Given the description of an element on the screen output the (x, y) to click on. 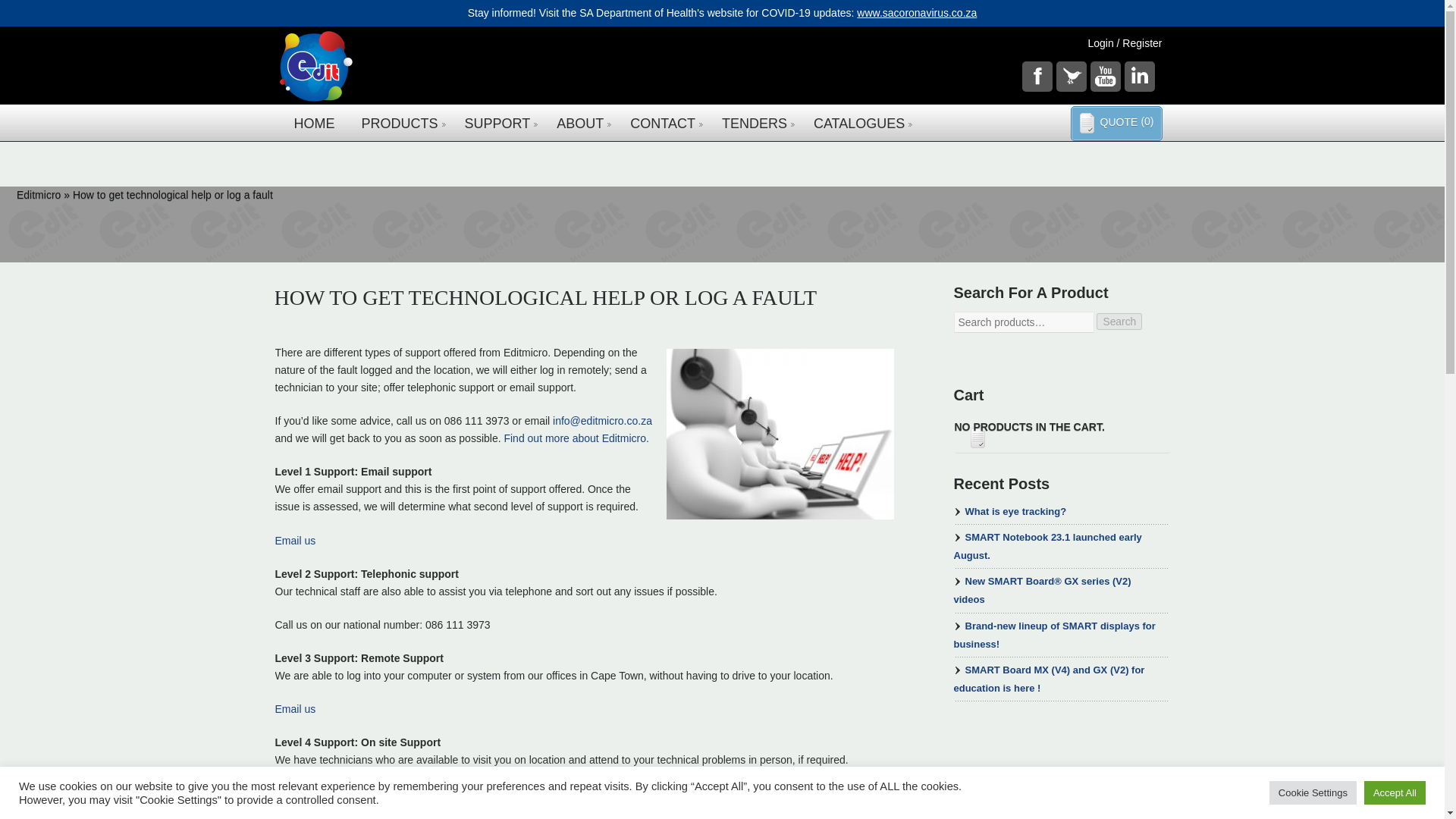
LinkedIn (1139, 76)
PRODUCTS (399, 121)
Facebook (1037, 76)
About Edit Micro (575, 438)
Youtube (1105, 76)
Twitter (1070, 76)
HOME (314, 121)
